Given the description of an element on the screen output the (x, y) to click on. 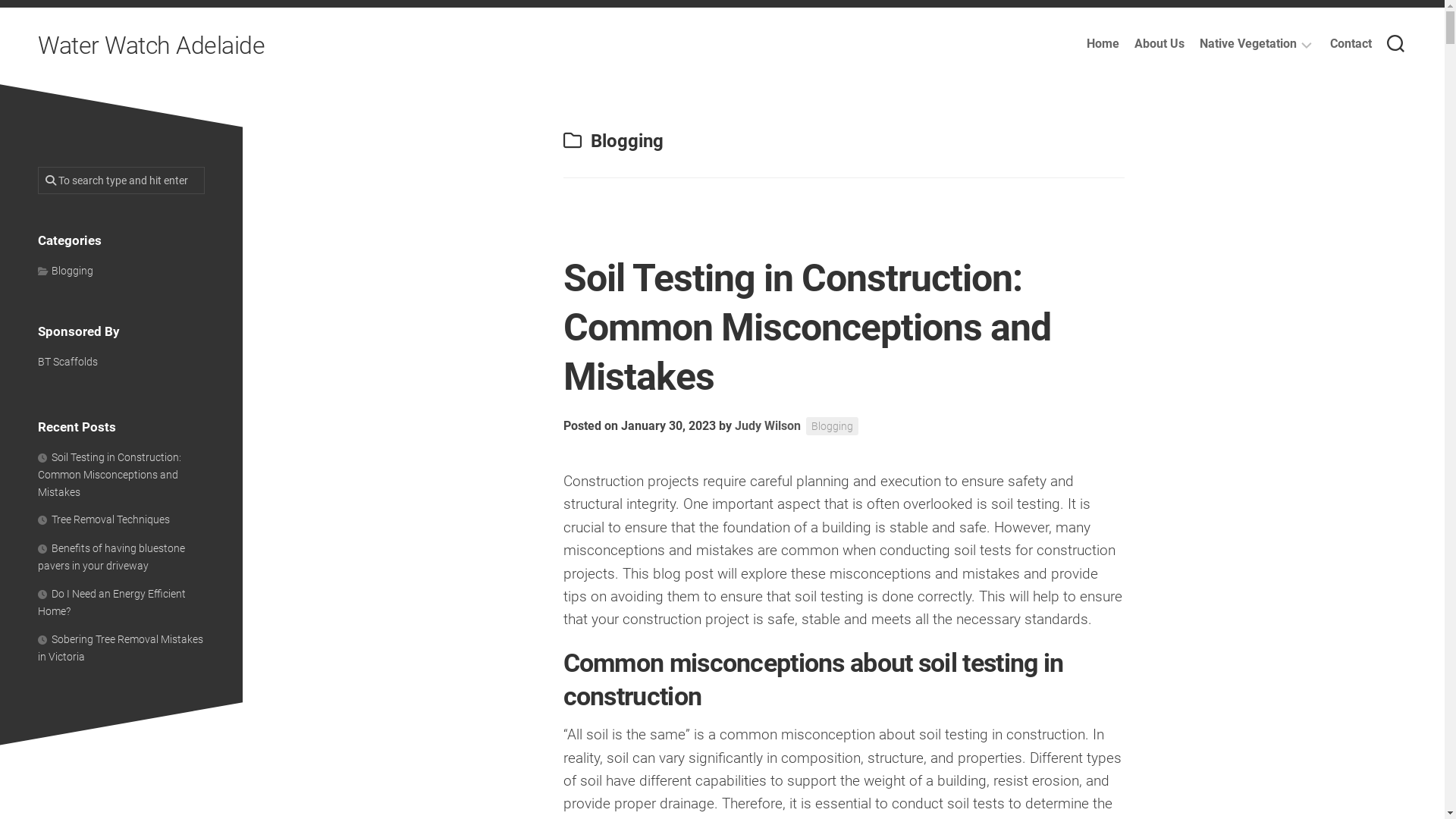
BT Scaffolds Element type: text (67, 360)
Home Element type: text (1102, 43)
Tree Removal Techniques Element type: text (103, 519)
Sobering Tree Removal Mistakes in Victoria Element type: text (120, 647)
About Us Element type: text (1159, 43)
Blogging Element type: text (65, 269)
Native Vegetation Element type: text (1247, 43)
Water Watch Adelaide Element type: text (150, 45)
Benefits of having bluestone pavers in your driveway Element type: text (111, 556)
Judy Wilson Element type: text (767, 425)
Contact Element type: text (1350, 43)
Blogging Element type: text (831, 426)
Do I Need an Energy Efficient Home? Element type: text (111, 601)
